Given the description of an element on the screen output the (x, y) to click on. 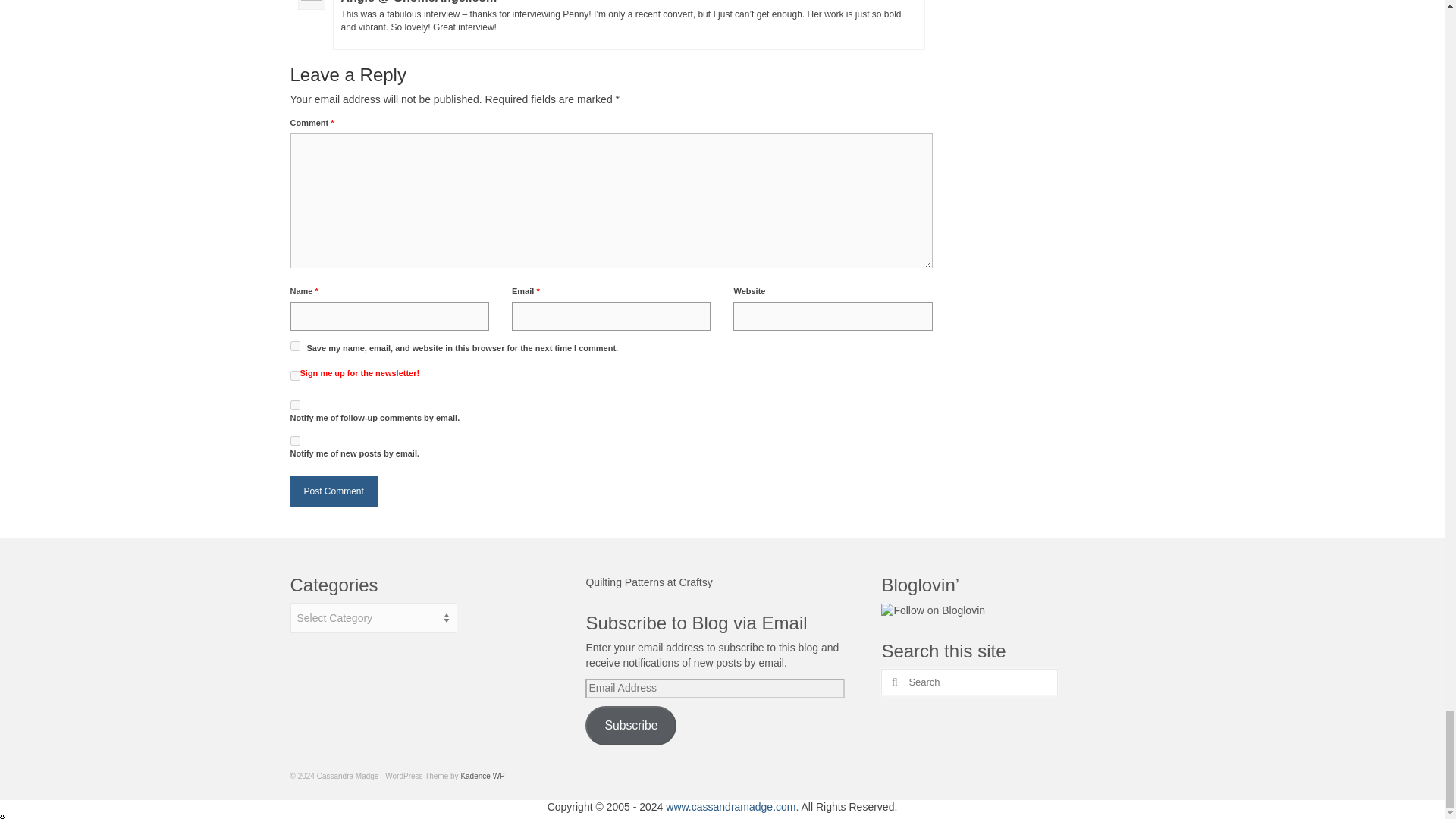
Post Comment (333, 490)
1 (294, 375)
subscribe (294, 440)
yes (294, 346)
subscribe (294, 405)
